Given the description of an element on the screen output the (x, y) to click on. 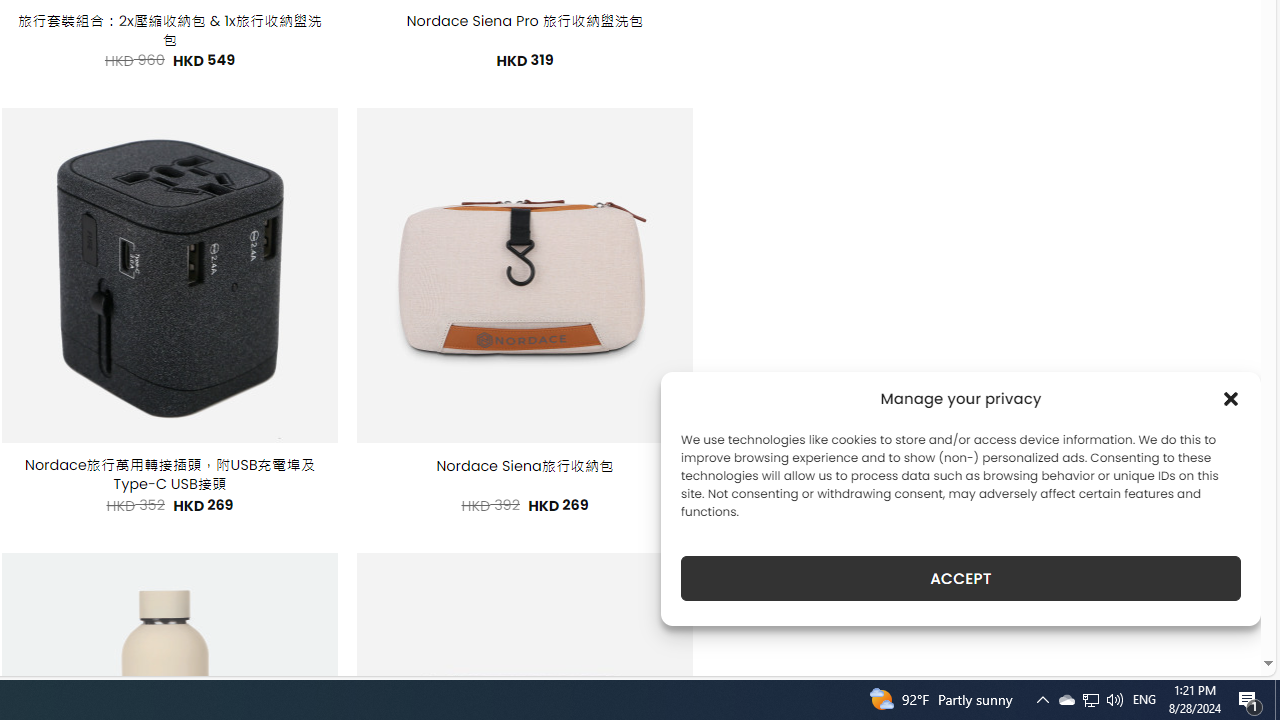
Class: cmplz-close (1231, 398)
ACCEPT (960, 578)
